Given the description of an element on the screen output the (x, y) to click on. 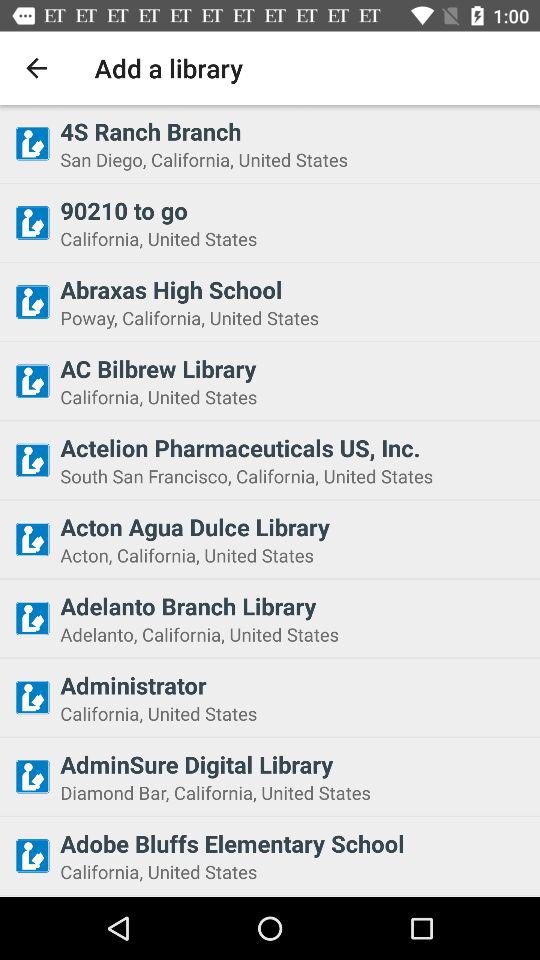
press the item below california, united states icon (294, 764)
